Given the description of an element on the screen output the (x, y) to click on. 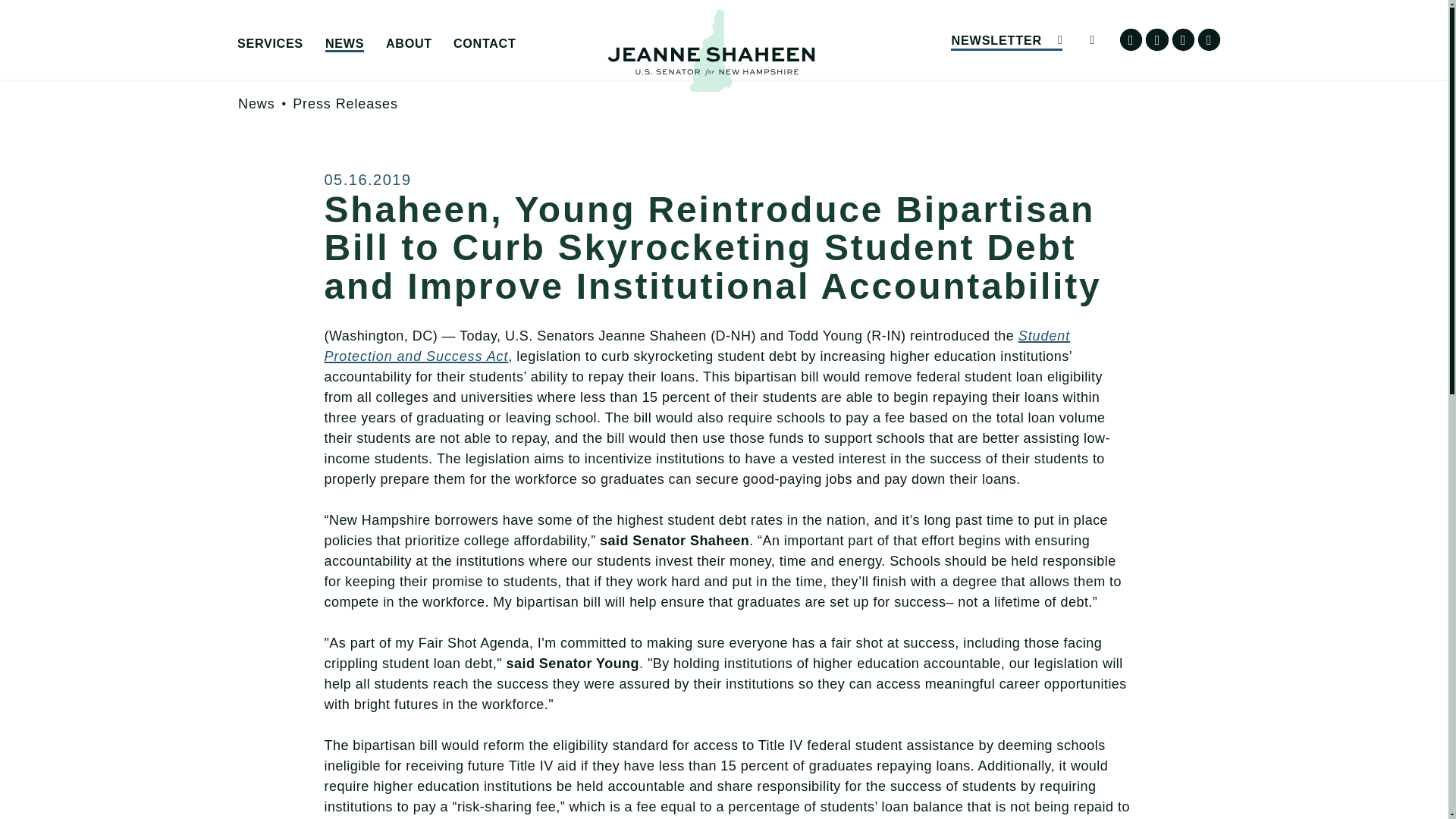
NEWSLETTER (1006, 39)
Press Releases (344, 103)
Help With A Federal Agency (350, 66)
NEWS (344, 44)
Biography (498, 66)
News (256, 103)
Skip to content (26, 26)
Contact Jeanne (566, 66)
CONTACT (483, 44)
SERVICES (269, 44)
